Given the description of an element on the screen output the (x, y) to click on. 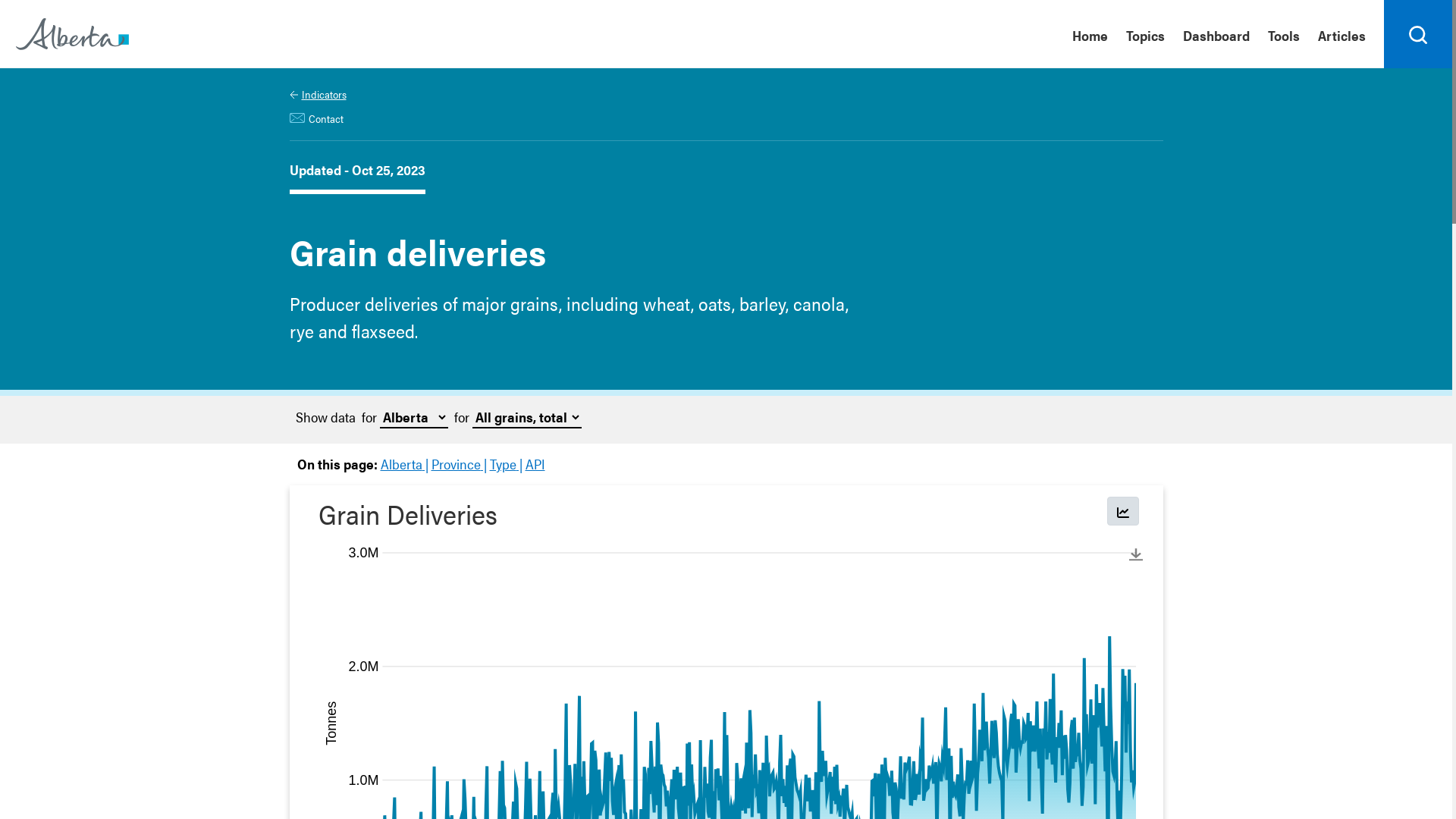
Type Element type: text (505, 463)
Province Element type: text (458, 463)
Dashboard Element type: text (1215, 34)
Table 32-10-0351-01 Element type: text (547, 659)
Topics Element type: text (1145, 34)
Tools Element type: text (1283, 34)
API Element type: text (534, 463)
Alberta Element type: text (404, 463)
Indicators Element type: text (317, 93)
Search Element type: text (1417, 34)
Home Element type: text (1090, 34)
Articles Element type: text (1345, 34)
